Given the description of an element on the screen output the (x, y) to click on. 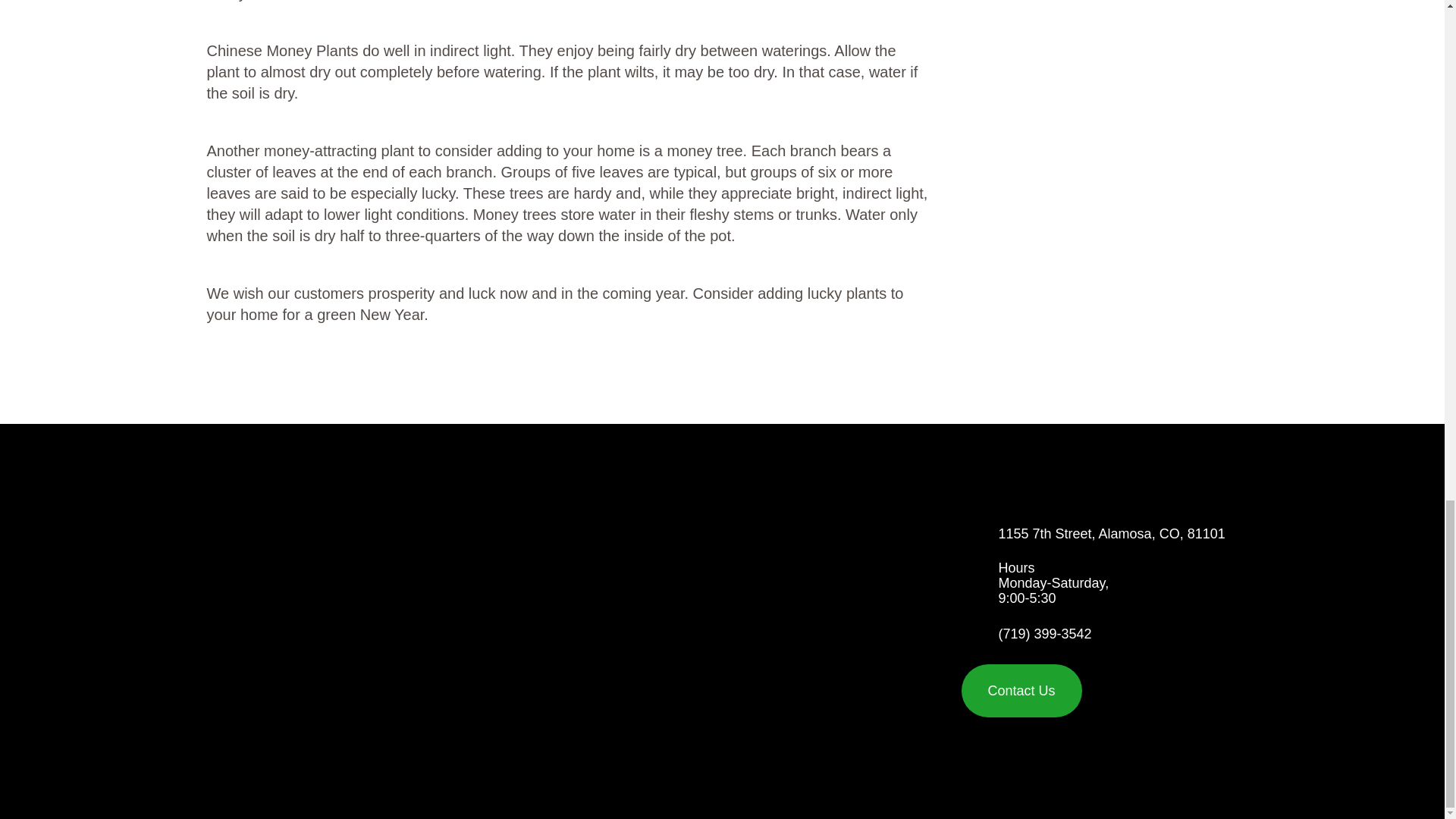
Contact Us (1020, 690)
